Given the description of an element on the screen output the (x, y) to click on. 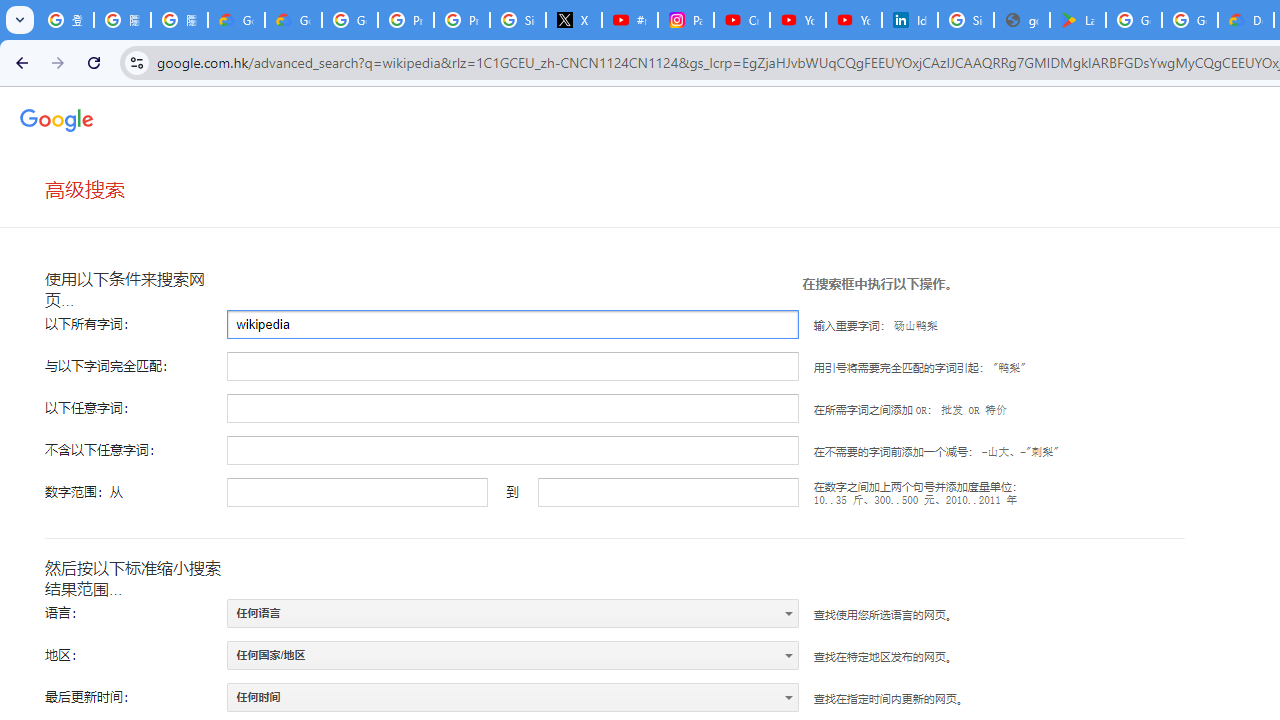
X (573, 20)
Sign in - Google Accounts (518, 20)
